Given the description of an element on the screen output the (x, y) to click on. 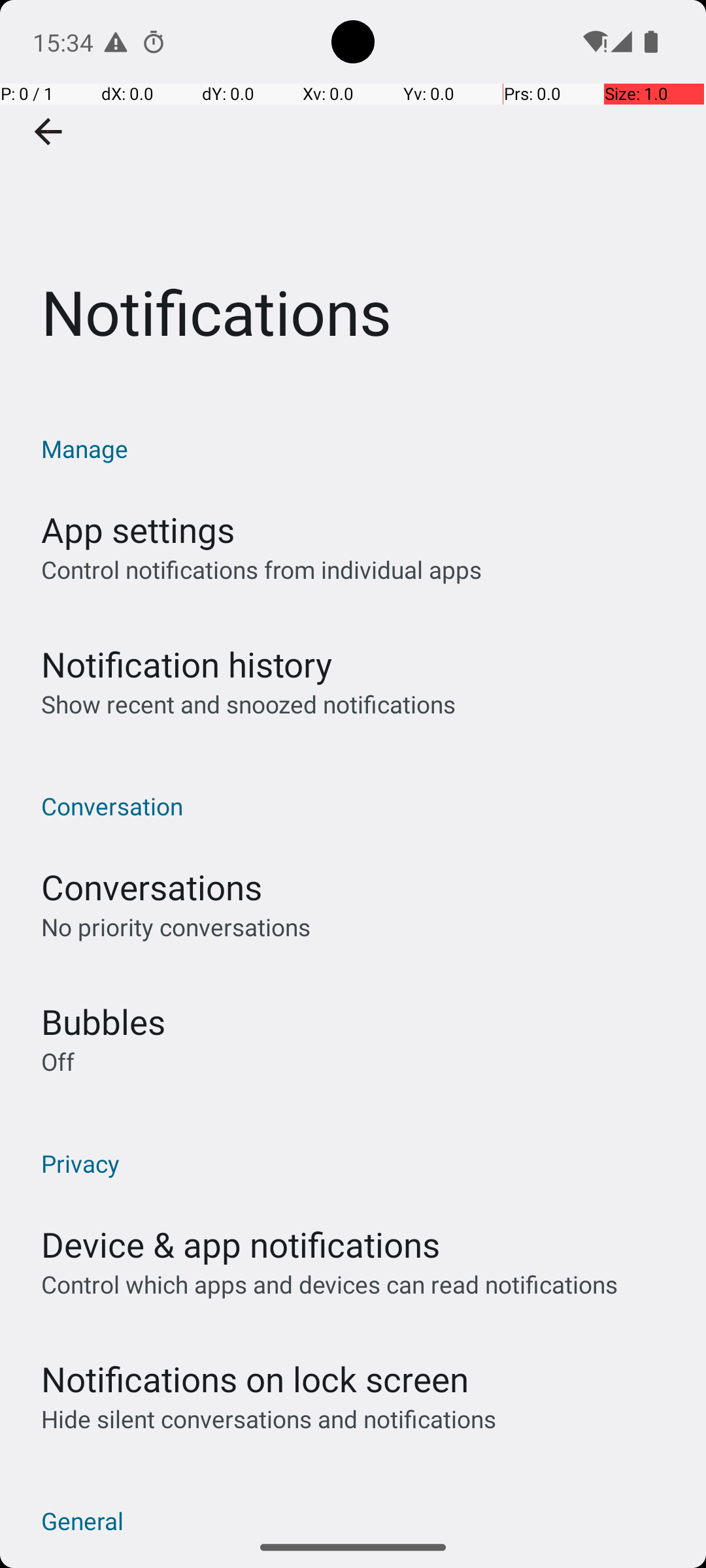
Manage Element type: android.widget.TextView (359, 448)
App settings Element type: android.widget.TextView (137, 529)
Control notifications from individual apps Element type: android.widget.TextView (261, 569)
Notification history Element type: android.widget.TextView (186, 663)
Show recent and snoozed notifications Element type: android.widget.TextView (248, 703)
Conversation Element type: android.widget.TextView (359, 805)
Conversations Element type: android.widget.TextView (151, 886)
No priority conversations Element type: android.widget.TextView (175, 926)
Bubbles Element type: android.widget.TextView (103, 1021)
Privacy Element type: android.widget.TextView (359, 1162)
Device & app notifications Element type: android.widget.TextView (240, 1244)
Control which apps and devices can read notifications Element type: android.widget.TextView (329, 1283)
Notifications on lock screen Element type: android.widget.TextView (254, 1378)
Hide silent conversations and notifications Element type: android.widget.TextView (268, 1418)
Android System notification:  Element type: android.widget.ImageView (115, 41)
